Given the description of an element on the screen output the (x, y) to click on. 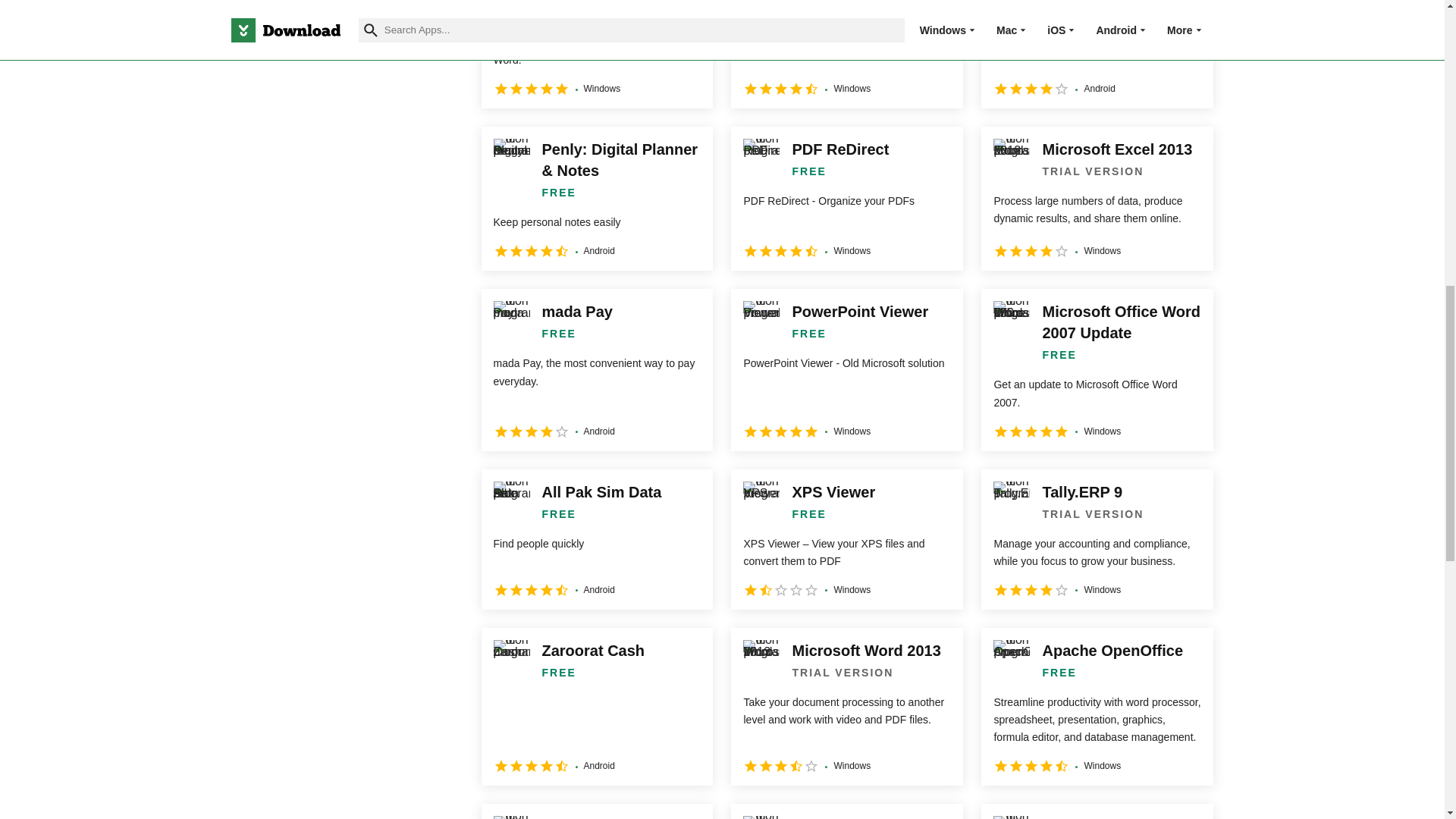
XPS Viewer (846, 539)
mada Pay (596, 369)
All Pak Sim Data (596, 539)
Tally.ERP 9 (1096, 539)
Microsoft Word 2013 (846, 706)
Free Barcode Generator (596, 54)
Microsoft Office Word 2007 Update (1096, 369)
PowerPoint Viewer (846, 369)
PDF ReDirect (846, 198)
Microsoft Office 2003 Service Pack (846, 54)
